Given the description of an element on the screen output the (x, y) to click on. 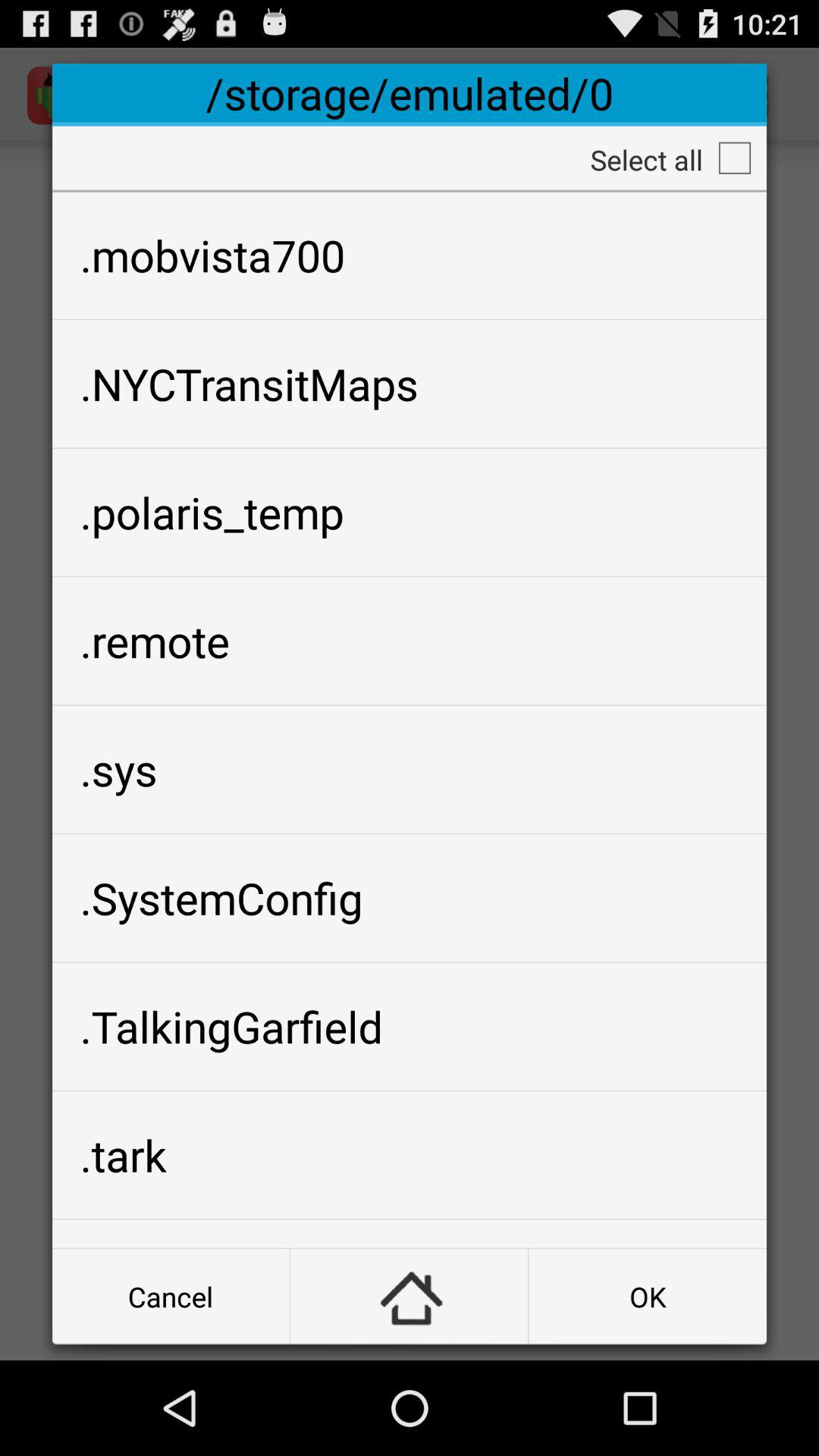
select the icon to the right of cancel icon (408, 1296)
